Given the description of an element on the screen output the (x, y) to click on. 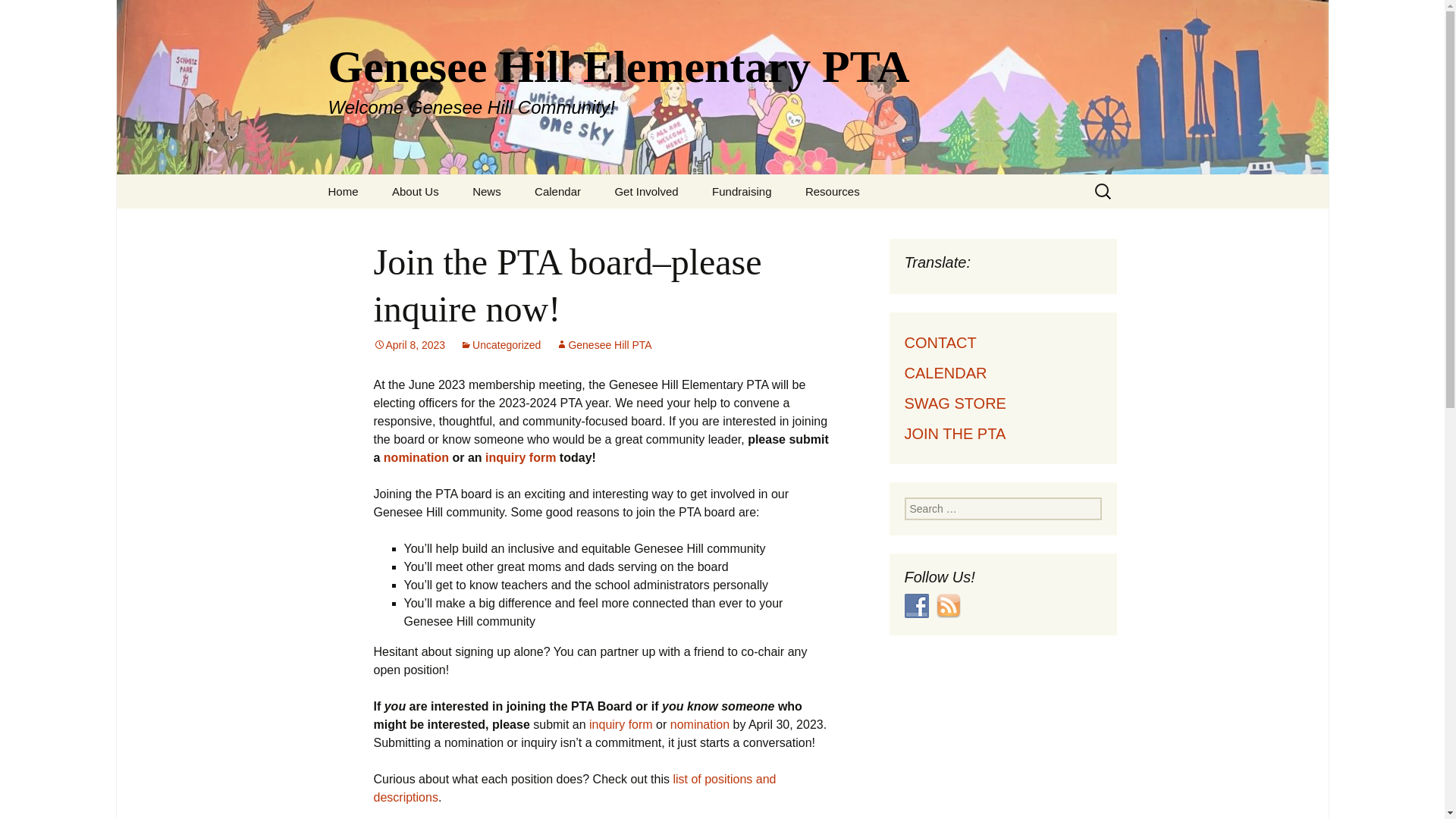
inquiry form (520, 457)
Home (342, 191)
Search (866, 225)
News (18, 15)
list of positions and descriptions (486, 191)
GHE PTA RSS Feed (574, 788)
Resources (947, 605)
nomination (832, 191)
Follow Us on Facebook (699, 724)
Genesee Hill Elementary PTA (916, 605)
Genesee Hill PTA Website (772, 225)
